Given the description of an element on the screen output the (x, y) to click on. 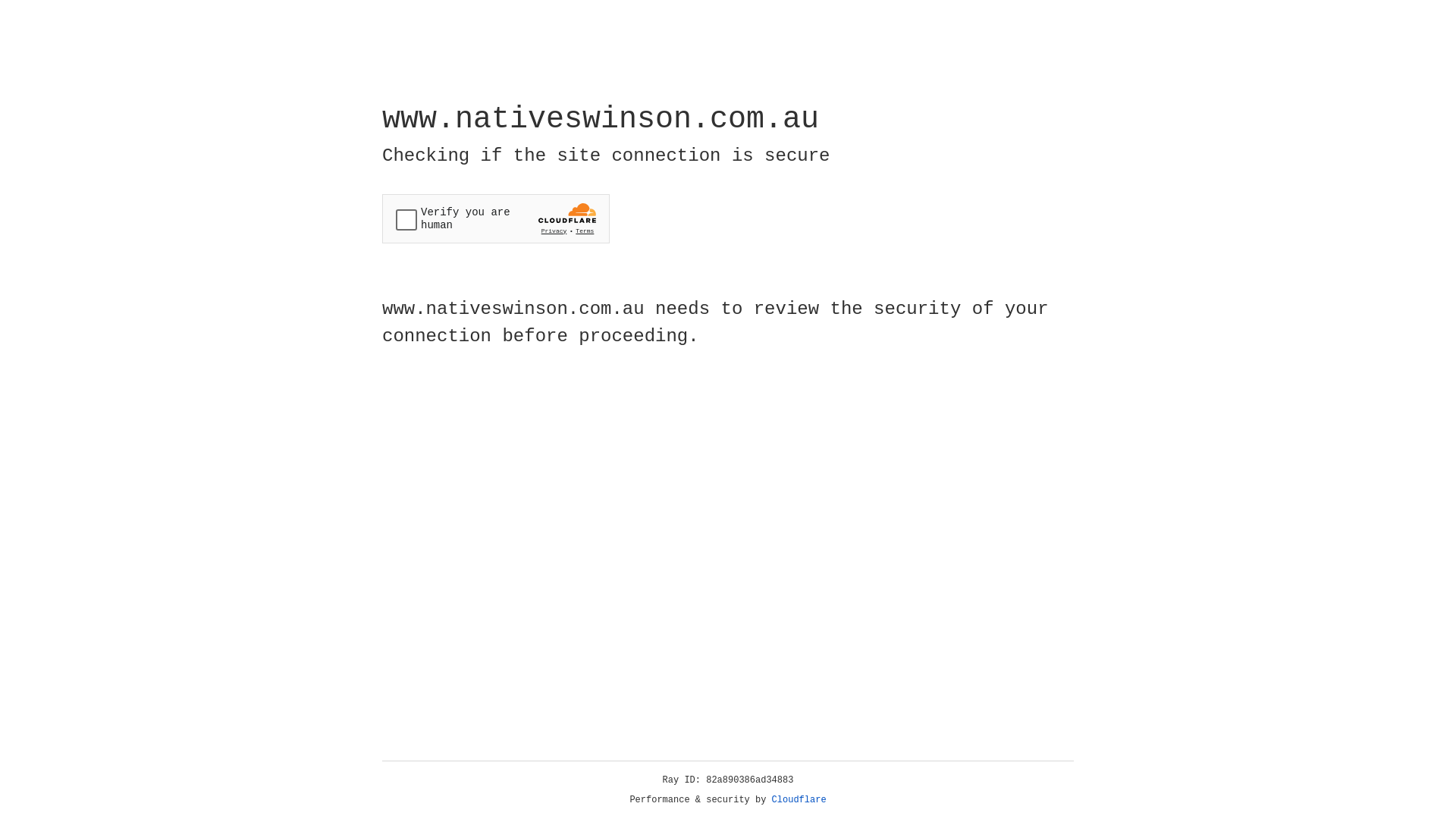
Cloudflare Element type: text (798, 799)
Widget containing a Cloudflare security challenge Element type: hover (495, 218)
